Given the description of an element on the screen output the (x, y) to click on. 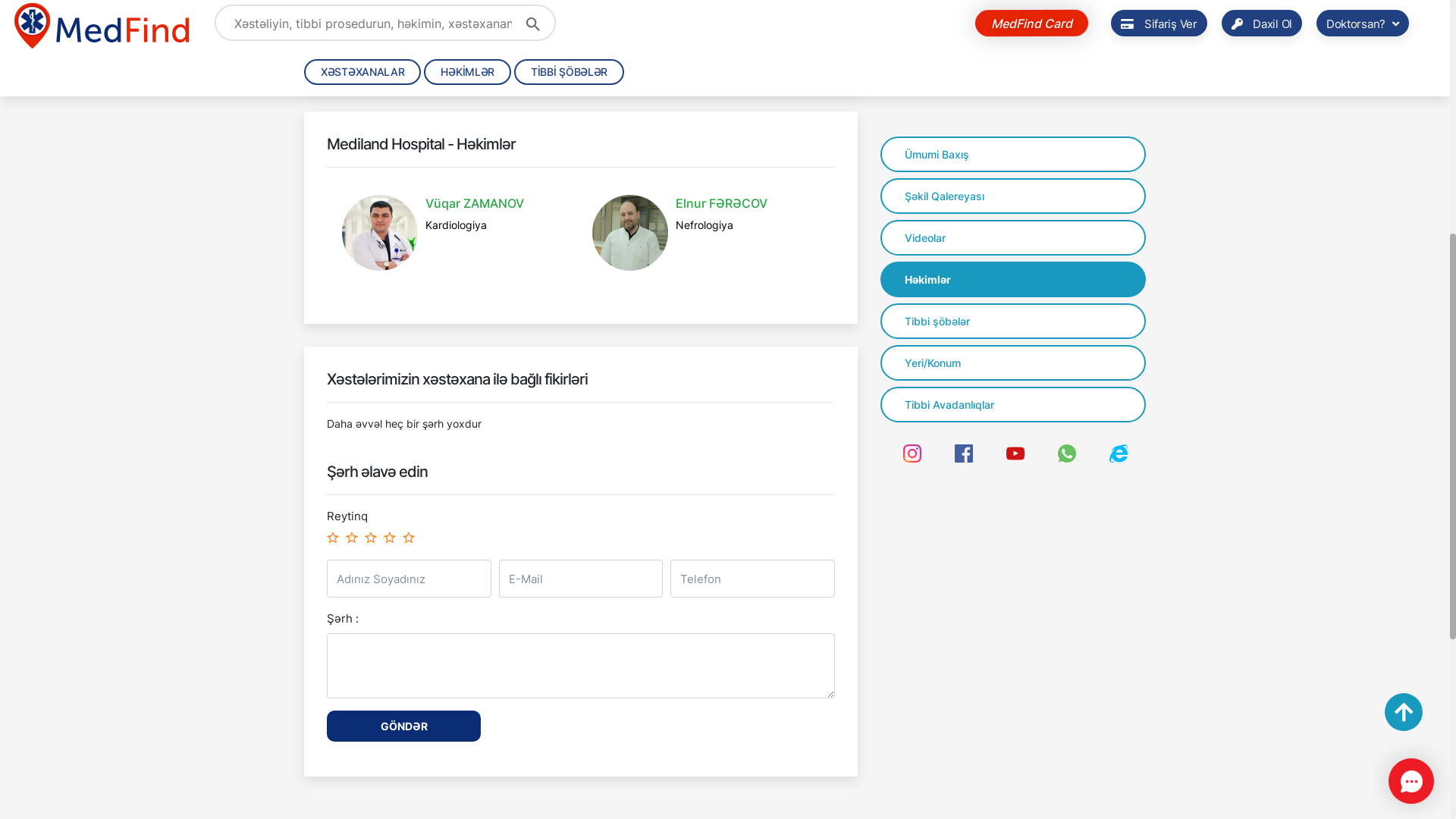
Telefon Element type: text (486, 521)
Nefrologiya Element type: text (704, 696)
Yeri/Konum : BAKI Element type: text (372, 492)
Doktorsan? Element type: text (1362, 495)
Kardiologiya Element type: text (455, 696)
MedFind Card Element type: text (1031, 494)
Whatsapp Element type: text (374, 521)
Videolar Element type: text (1012, 709)
Daxil Ol Element type: text (1261, 495)
